Given the description of an element on the screen output the (x, y) to click on. 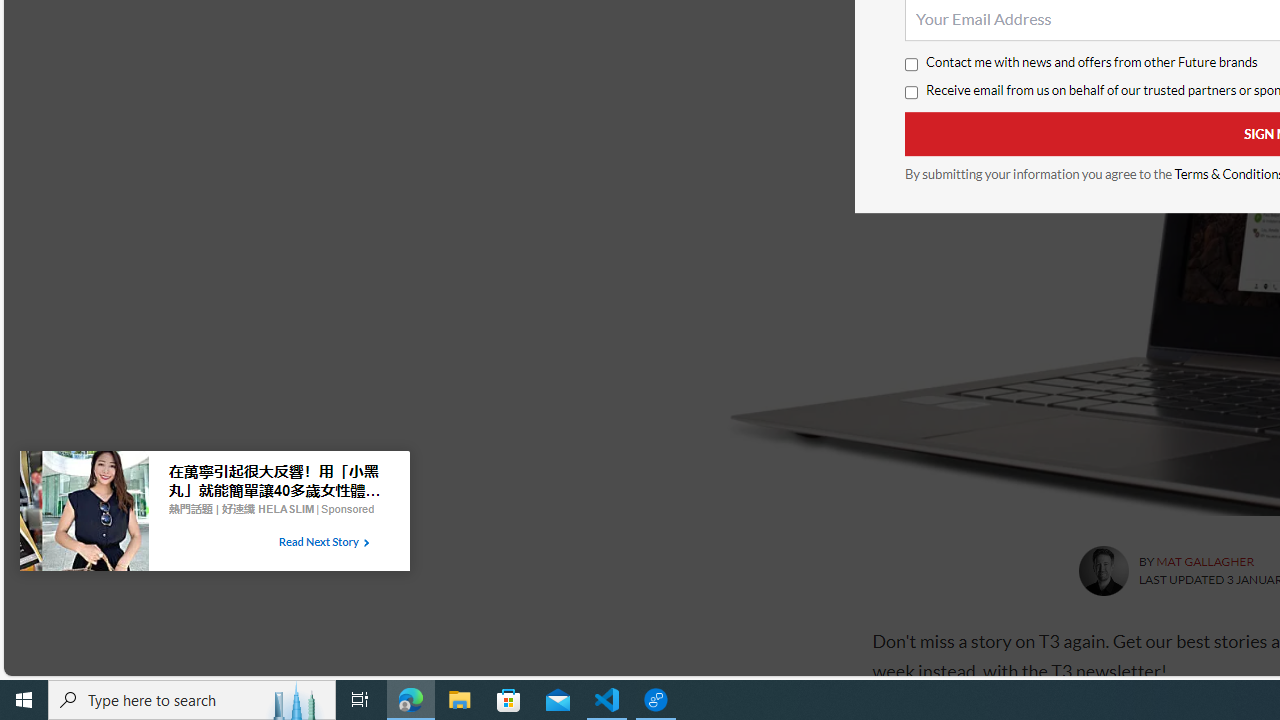
MAT GALLAGHER (1204, 561)
Class: tbl-arrow-icon arrow-1 (366, 543)
Image for Taboola Advertising Unit (84, 515)
Image for Taboola Advertising Unit (84, 515)
Mat Gallagher (1102, 570)
Contact me with news and offers from other Future brands (910, 65)
Class: tbl-arrow-icon arrow-2 (366, 543)
